Given the description of an element on the screen output the (x, y) to click on. 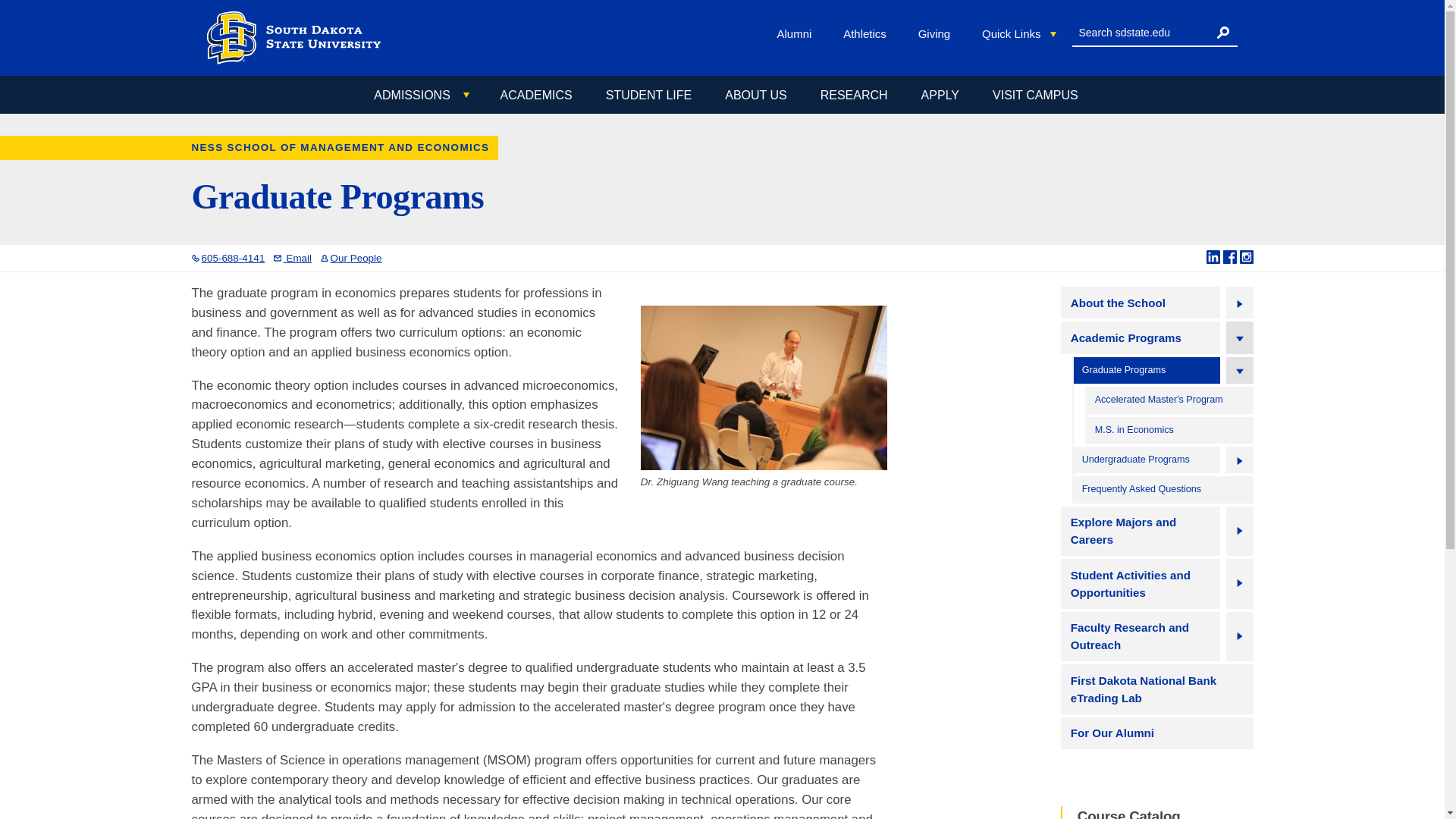
ADMISSIONS (420, 95)
Athletics (867, 33)
APPLY (940, 94)
Email Sdsu Ness School (292, 257)
RESEARCH (854, 94)
Search (1222, 32)
Giving (937, 33)
STUDENT LIFE (648, 94)
ABOUT US (755, 94)
